Given the description of an element on the screen output the (x, y) to click on. 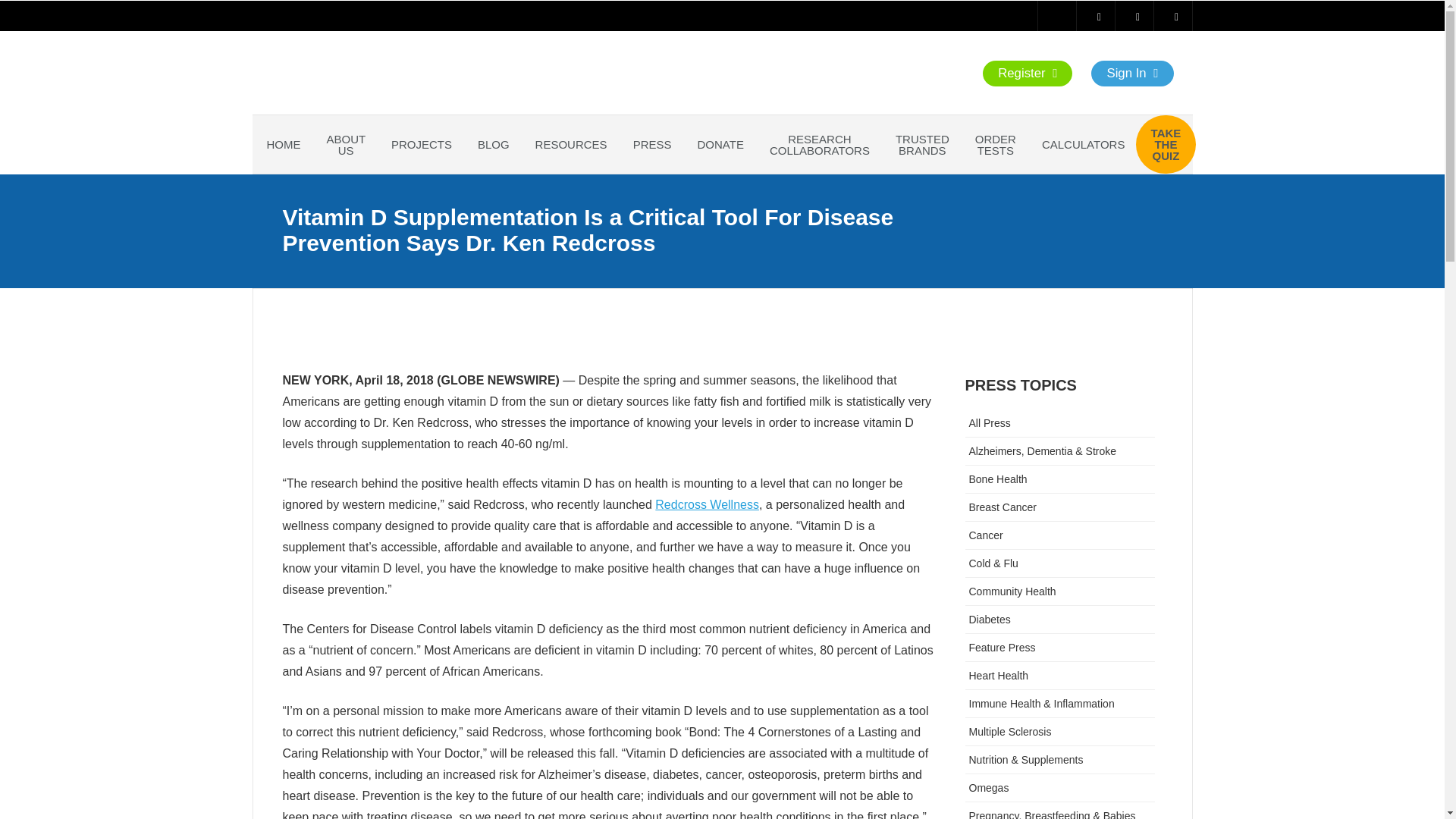
PROJECTS (421, 144)
YouTube (1060, 11)
ABOUT US (346, 143)
HOME (282, 144)
Search (22, 12)
Facebook (1099, 11)
BLOG (493, 144)
Twitter (1137, 11)
GrassrootsHealth -  (327, 51)
